Given the description of an element on the screen output the (x, y) to click on. 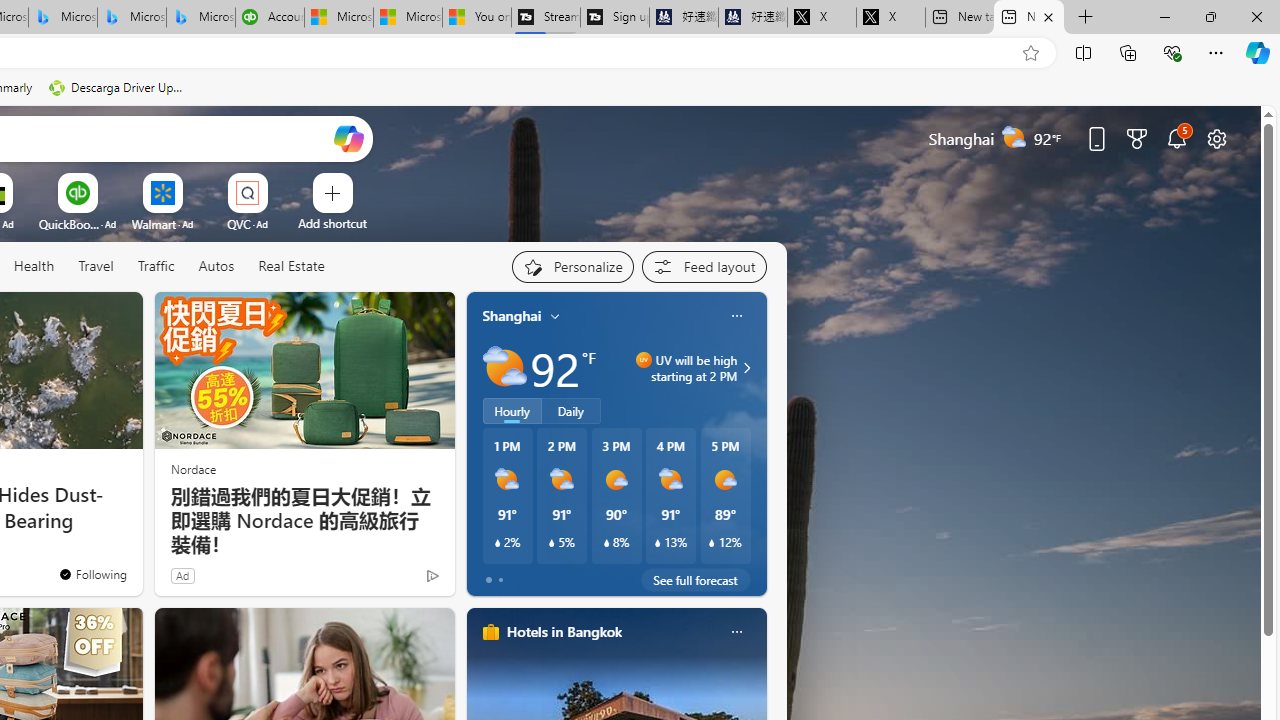
Hotels in Bangkok (563, 631)
Class: icon-img (736, 632)
Travel (95, 265)
